Given the description of an element on the screen output the (x, y) to click on. 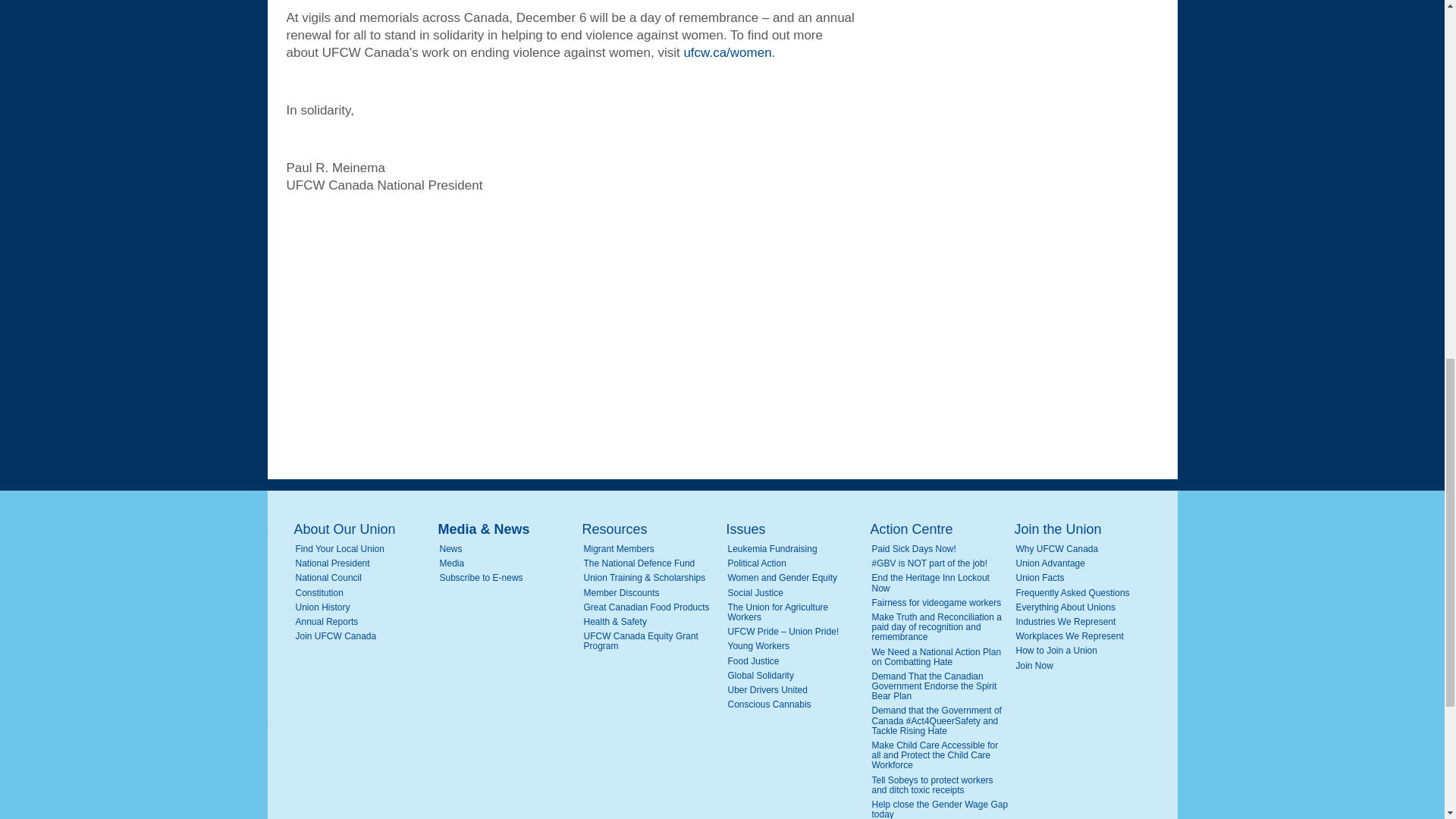
National President (363, 563)
About Our Union (362, 529)
Find Your Local Union (363, 549)
